Given the description of an element on the screen output the (x, y) to click on. 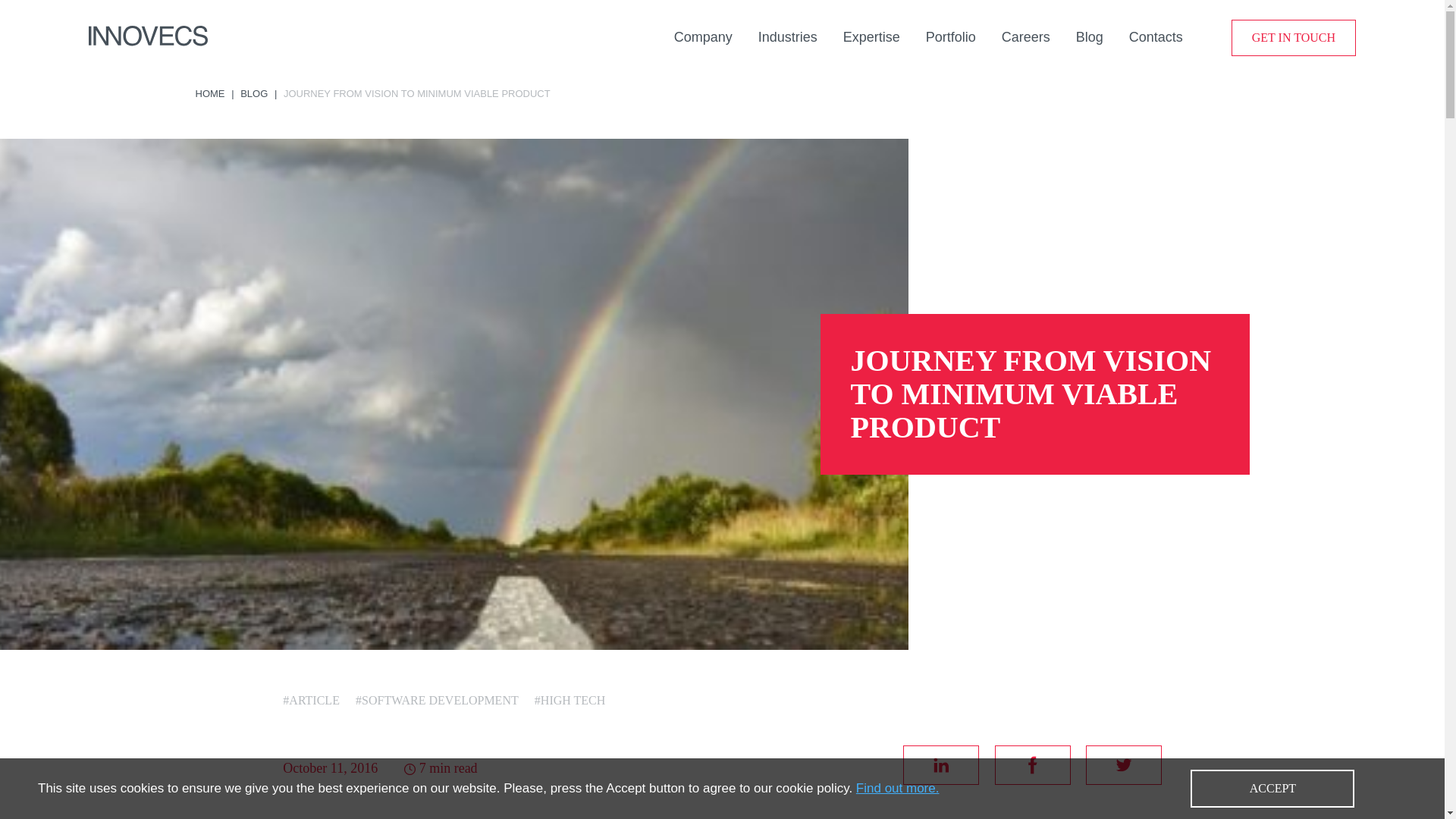
Careers (1025, 36)
HOME (210, 93)
Expertise (871, 36)
BLOG (253, 93)
Contacts (1155, 36)
Blog (1089, 36)
Company (703, 36)
Portfolio (950, 36)
